Given the description of an element on the screen output the (x, y) to click on. 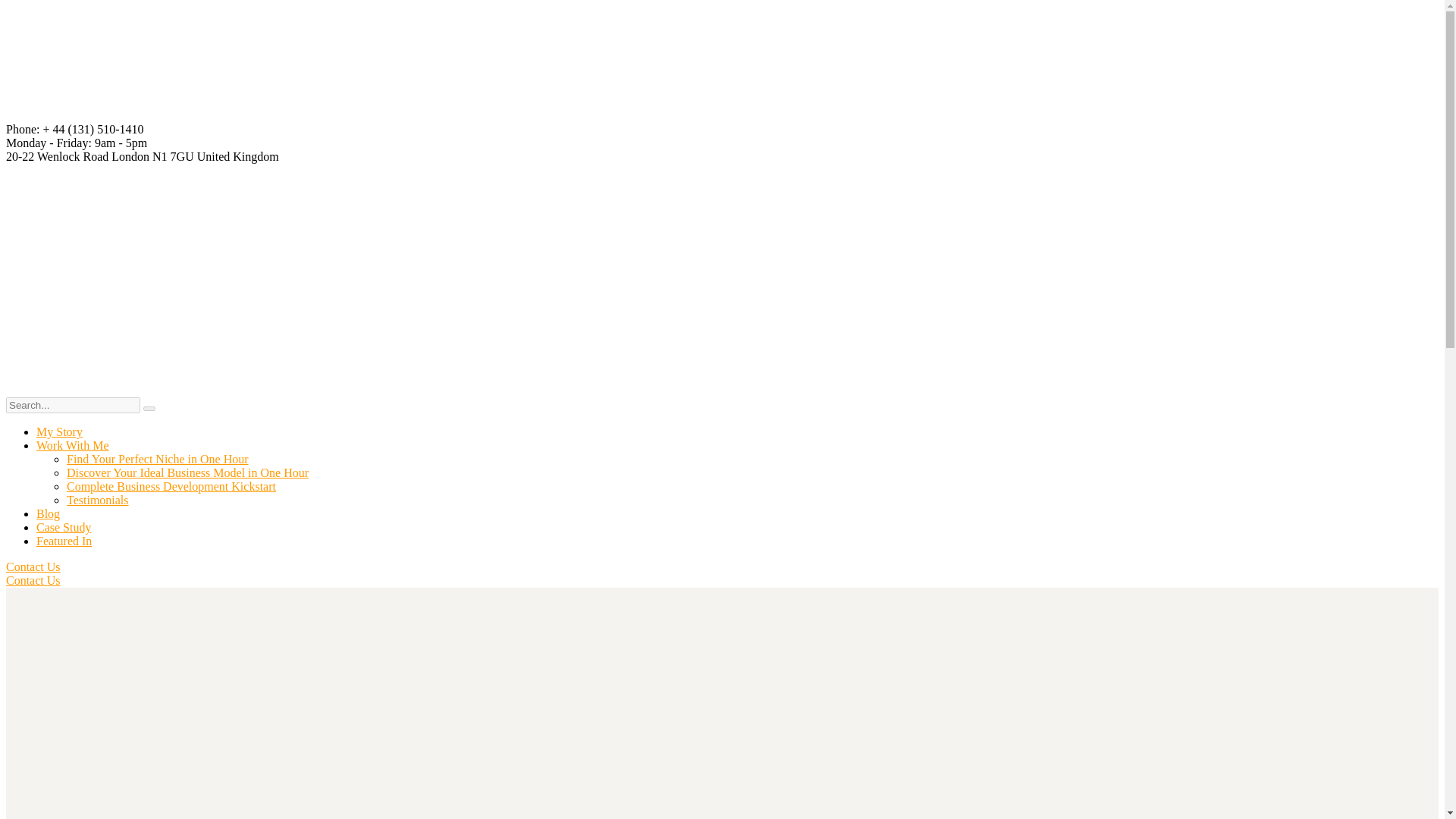
Miha Matlievski - Fail Coach (574, 115)
Miha Matlievski - Fail Coach (118, 273)
Find Your Perfect Niche in One Hour (157, 459)
Contact Us (33, 566)
Miha Matlievski - Fail Coach (574, 273)
Miha Matlievski - Fail Coach (346, 273)
Contact Us (33, 580)
Miha Matlievski - Fail Coach (118, 115)
Featured In (63, 540)
Blog (47, 513)
